Given the description of an element on the screen output the (x, y) to click on. 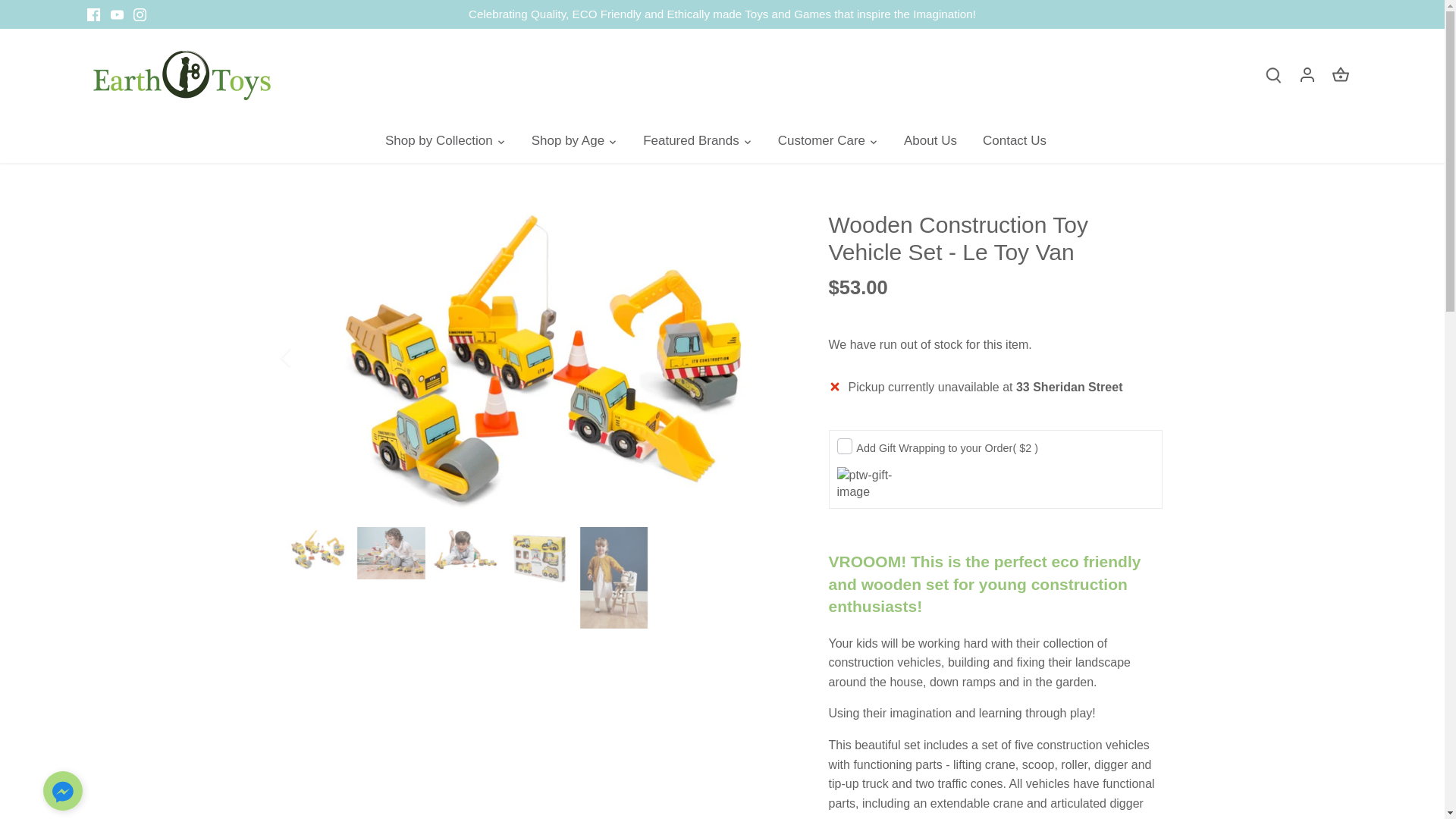
Youtube (116, 14)
Facebook (93, 14)
Instagram (140, 14)
on (845, 446)
Shop by Collection (445, 141)
